Given the description of an element on the screen output the (x, y) to click on. 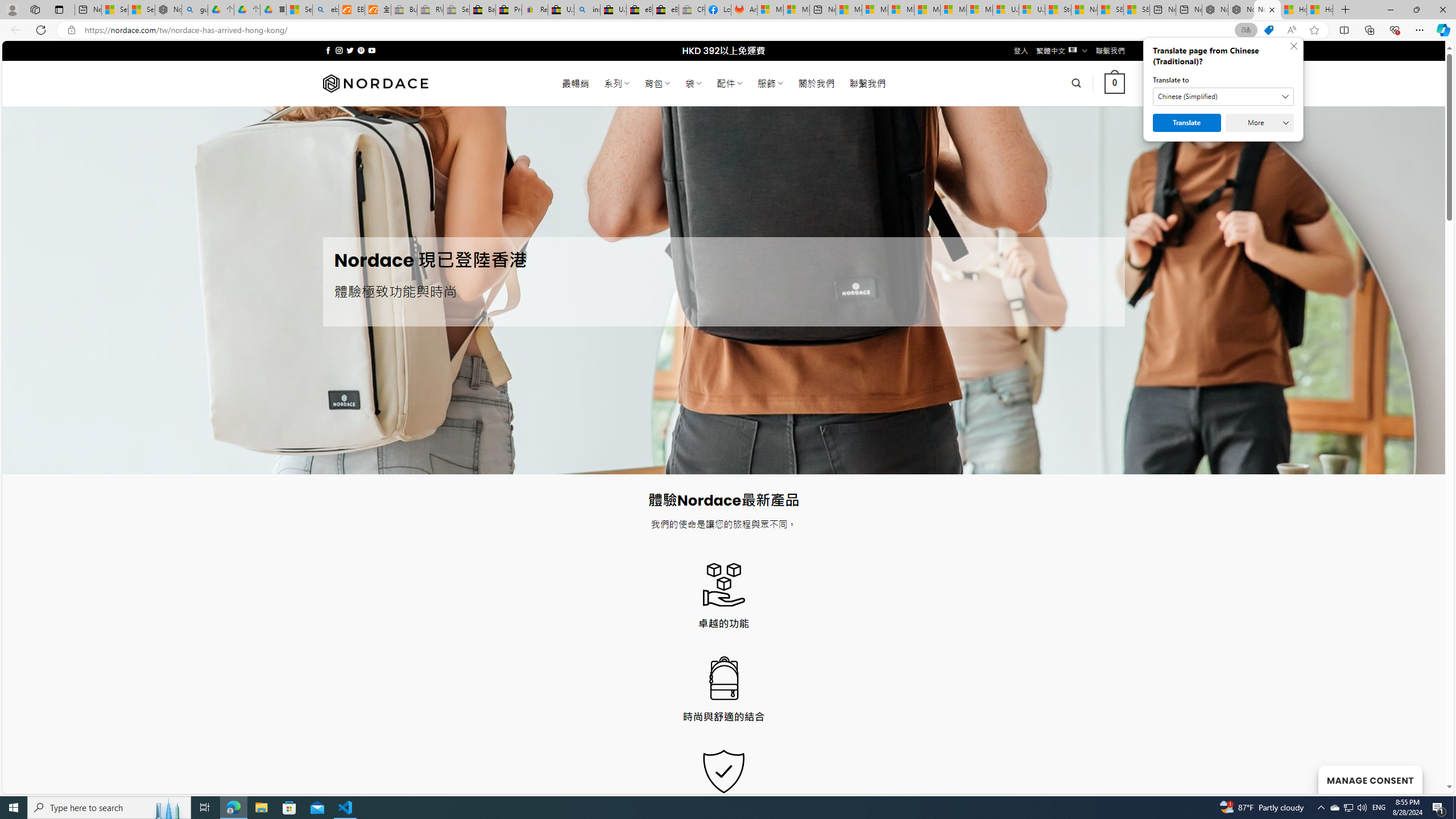
Press Room - eBay Inc. (508, 9)
Follow on Twitter (349, 50)
S&P 500, Nasdaq end lower, weighed by Nvidia dip | Watch (1136, 9)
  0   (1115, 83)
Translate (1187, 122)
eBay Inc. Reports Third Quarter 2023 Results (665, 9)
